Given the description of an element on the screen output the (x, y) to click on. 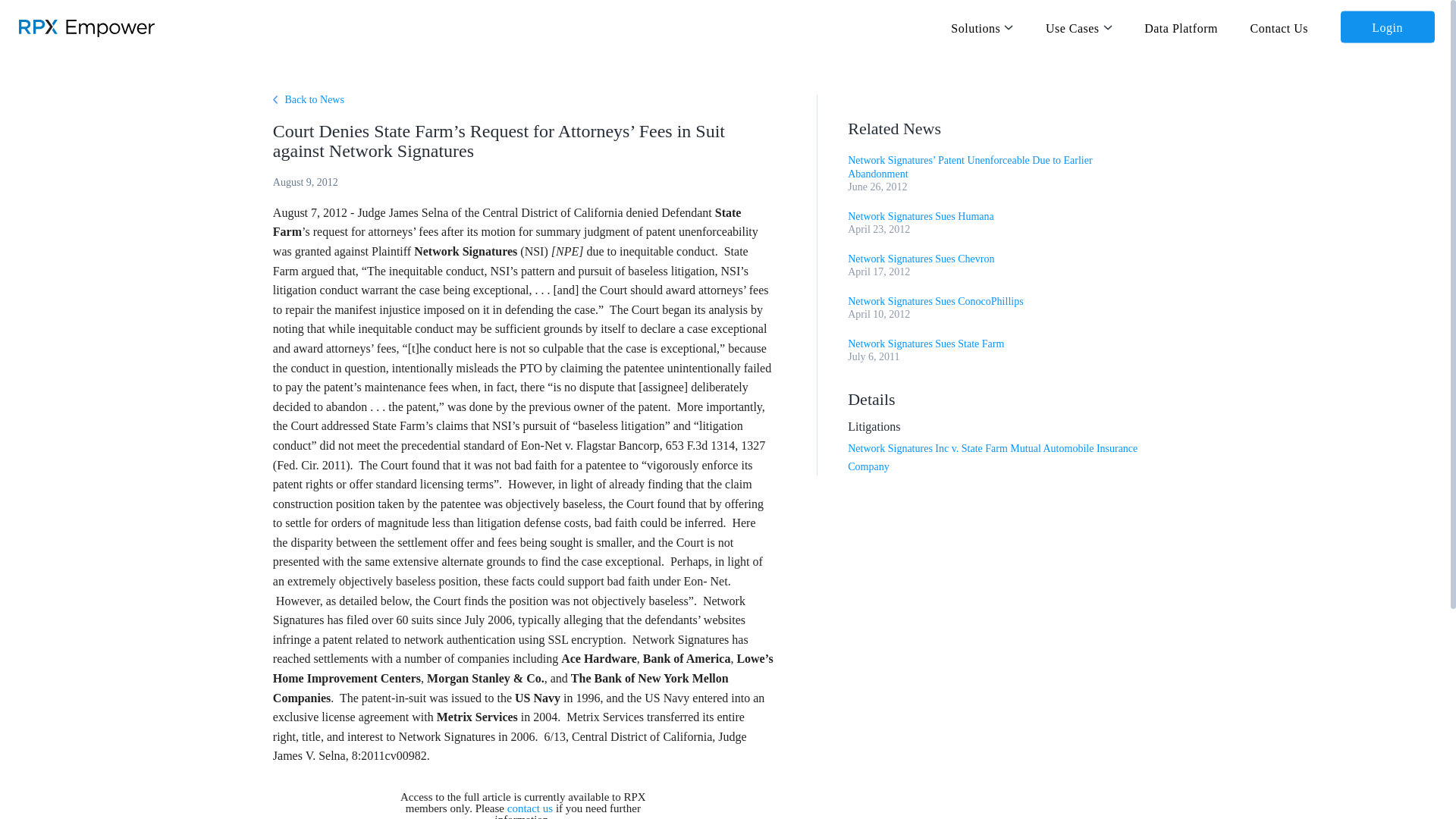
Solutions (981, 27)
Use Cases (1078, 27)
Network Signatures Sues State Farm (925, 343)
contact us (529, 808)
Network Signatures Sues Humana (919, 215)
Data Platform (1180, 27)
Network Signatures Sues ConocoPhillips (935, 301)
Contact Us (1279, 27)
Back to News (308, 100)
Network Signatures Sues Chevron (920, 258)
Login (1387, 27)
